Given the description of an element on the screen output the (x, y) to click on. 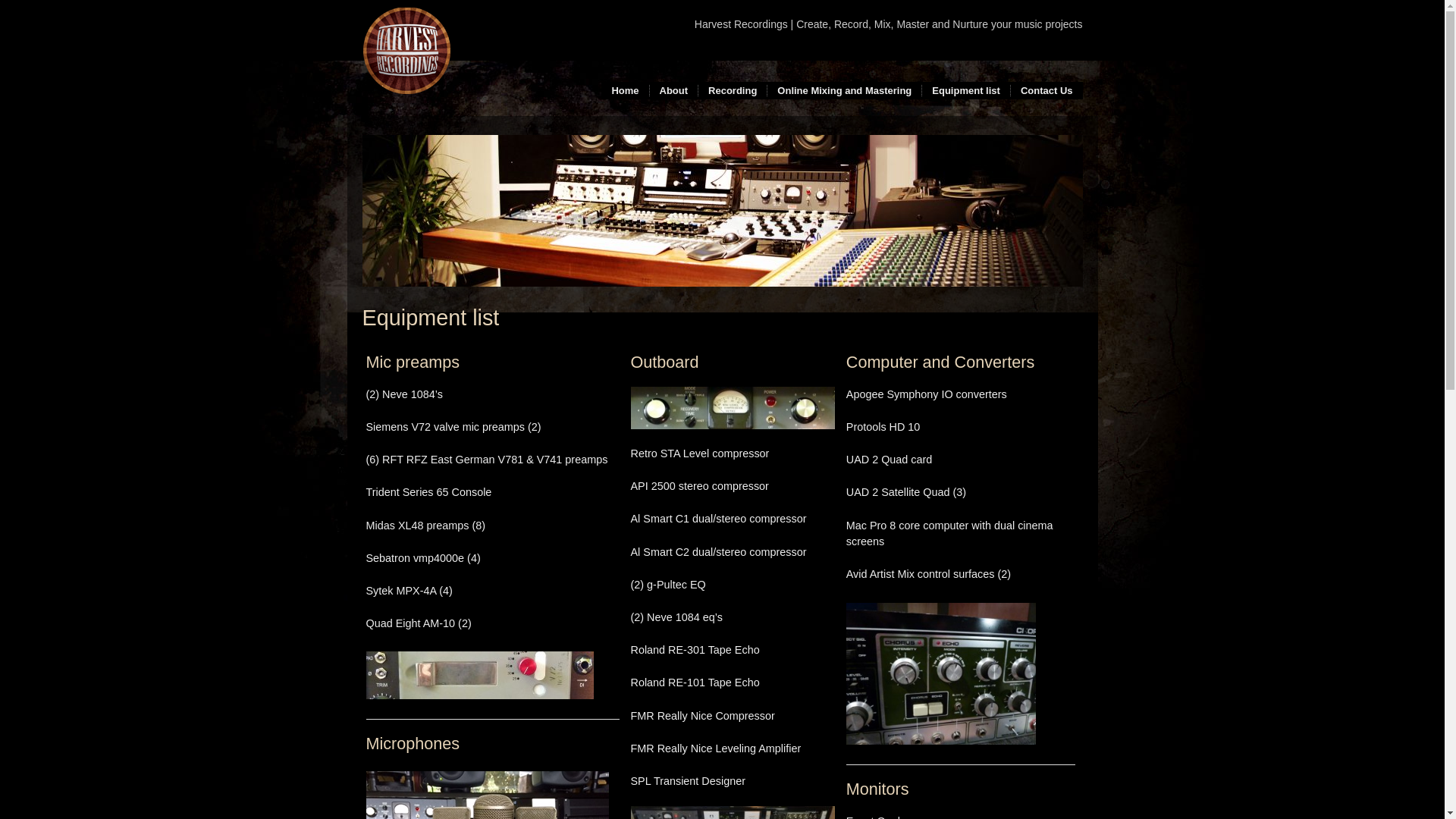
Equipment list Element type: text (966, 90)
Contact Us Element type: text (1046, 90)
About Element type: text (673, 90)
Recording Element type: text (732, 90)
Home Element type: text (625, 90)
Online Mixing and Mastering Element type: text (844, 90)
